Given the description of an element on the screen output the (x, y) to click on. 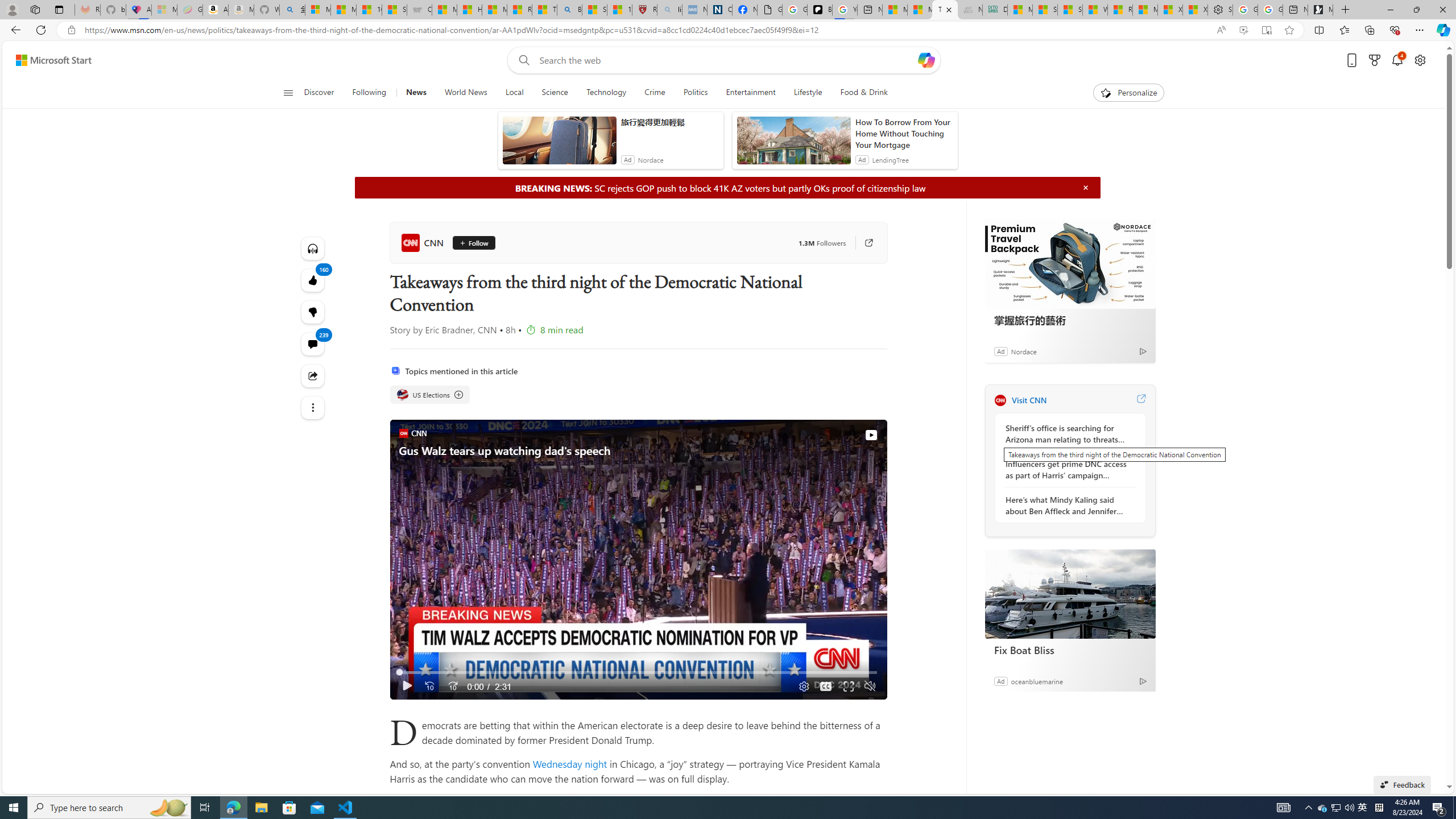
Fullscreen (848, 686)
Asthma Inhalers: Names and Types (137, 9)
Fix Boat Bliss (1070, 593)
Dislike (312, 311)
Combat Siege (418, 9)
Bing (568, 9)
DITOGAMES AG Imprint (993, 9)
Play (406, 686)
Navy Quest (969, 9)
Hide (1084, 187)
Science (554, 92)
